Given the description of an element on the screen output the (x, y) to click on. 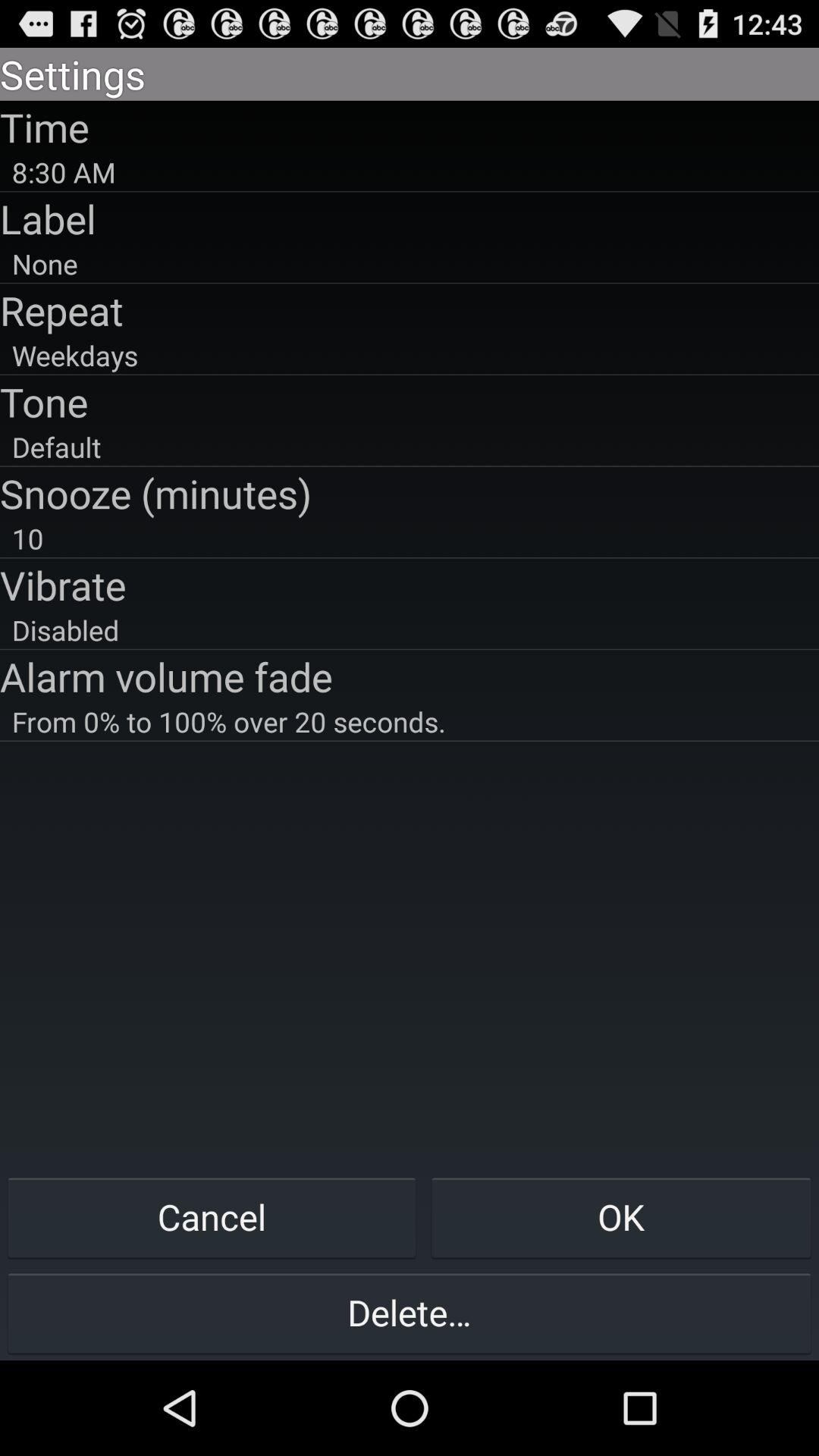
choose button above cancel item (409, 721)
